Given the description of an element on the screen output the (x, y) to click on. 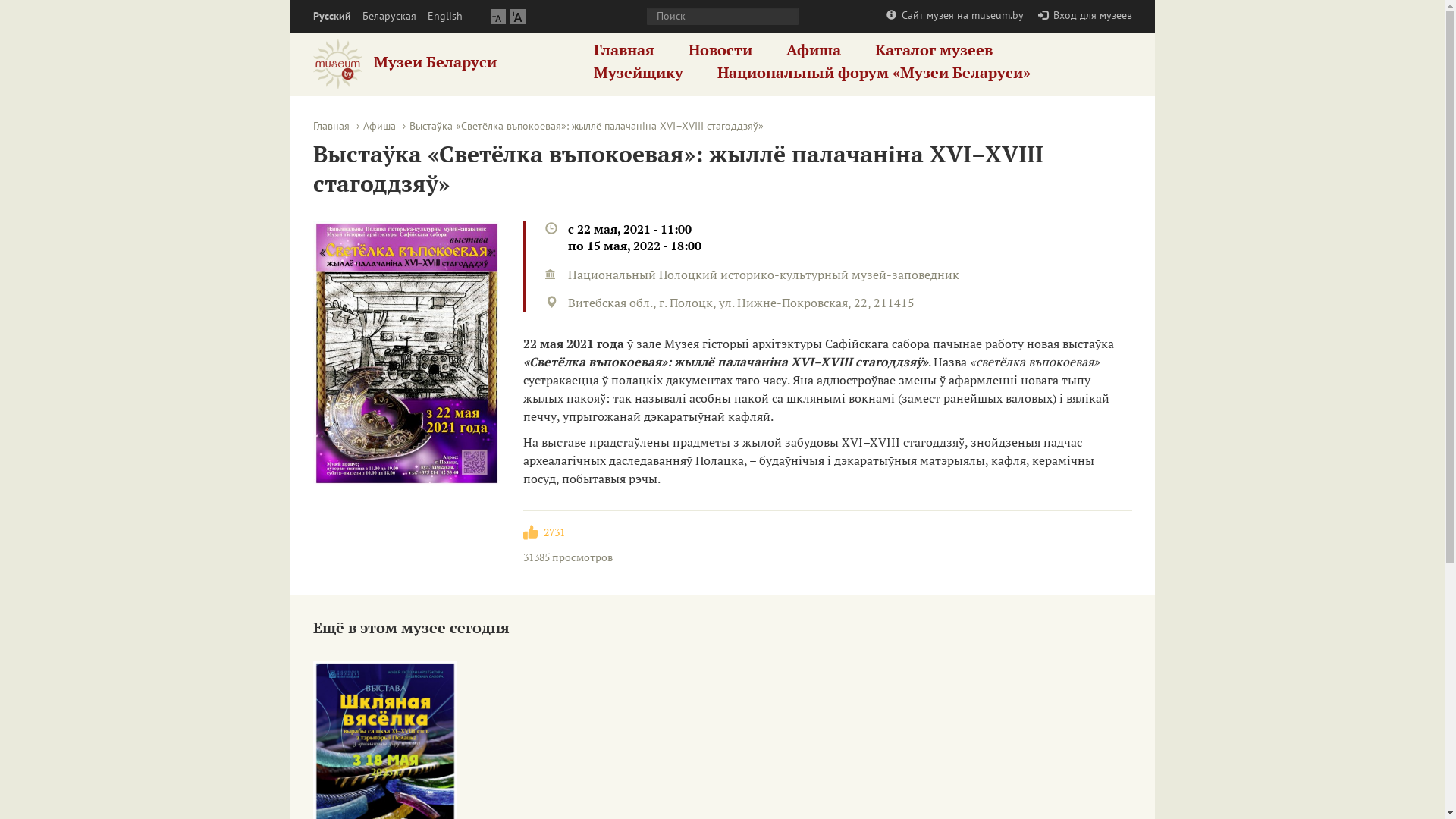
A Element type: text (516, 16)
English Element type: text (444, 16)
A Element type: text (497, 16)
